Given the description of an element on the screen output the (x, y) to click on. 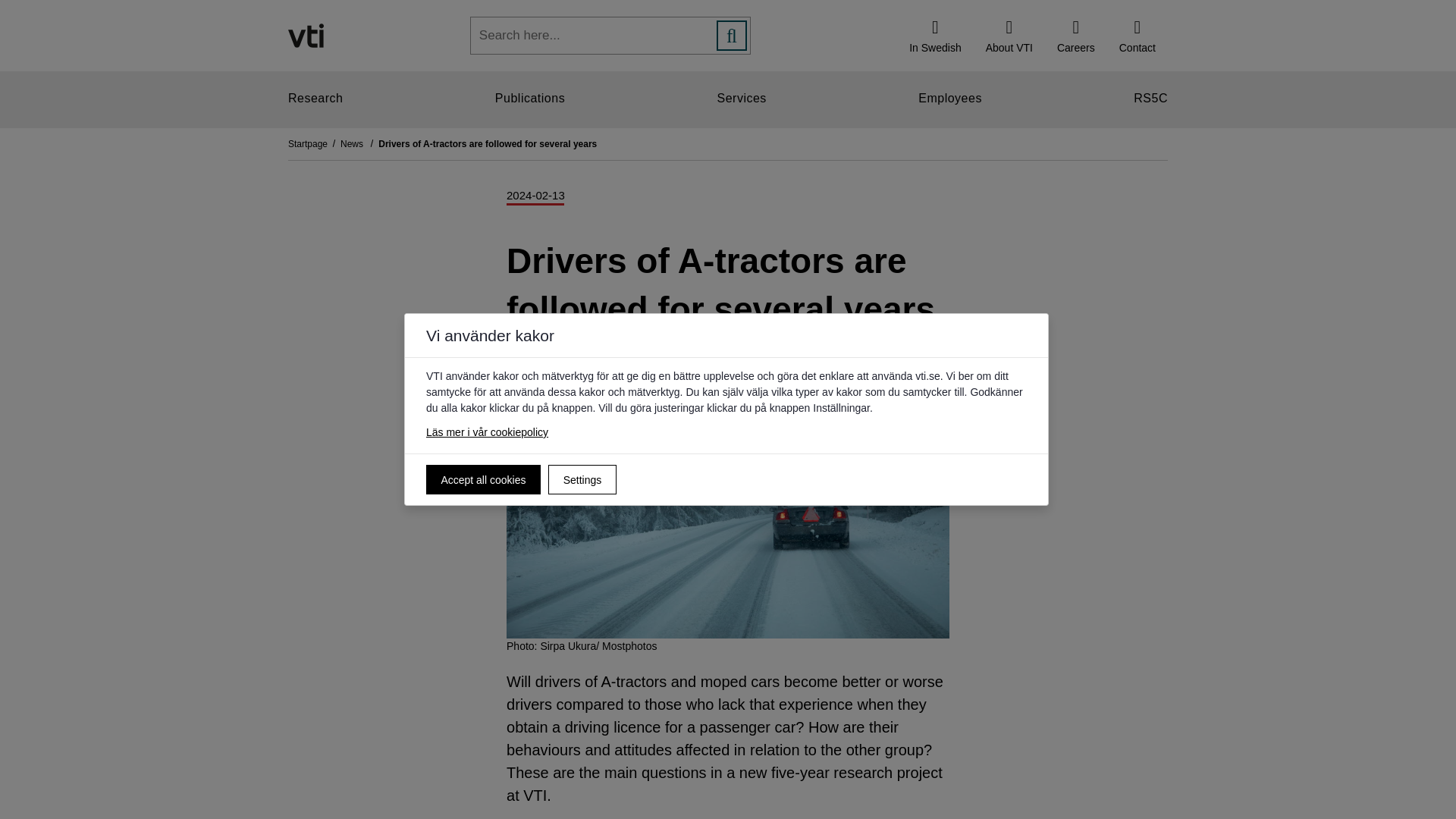
Drivers of A-tractors are followed for several years (487, 143)
Startpage (314, 143)
News (359, 143)
RS5C (1150, 99)
RS5C (1150, 99)
Employees (950, 99)
Contact (1136, 35)
Drivers of A-tractors are followed for several years (487, 143)
Employees (950, 99)
About VTI (1009, 35)
